Given the description of an element on the screen output the (x, y) to click on. 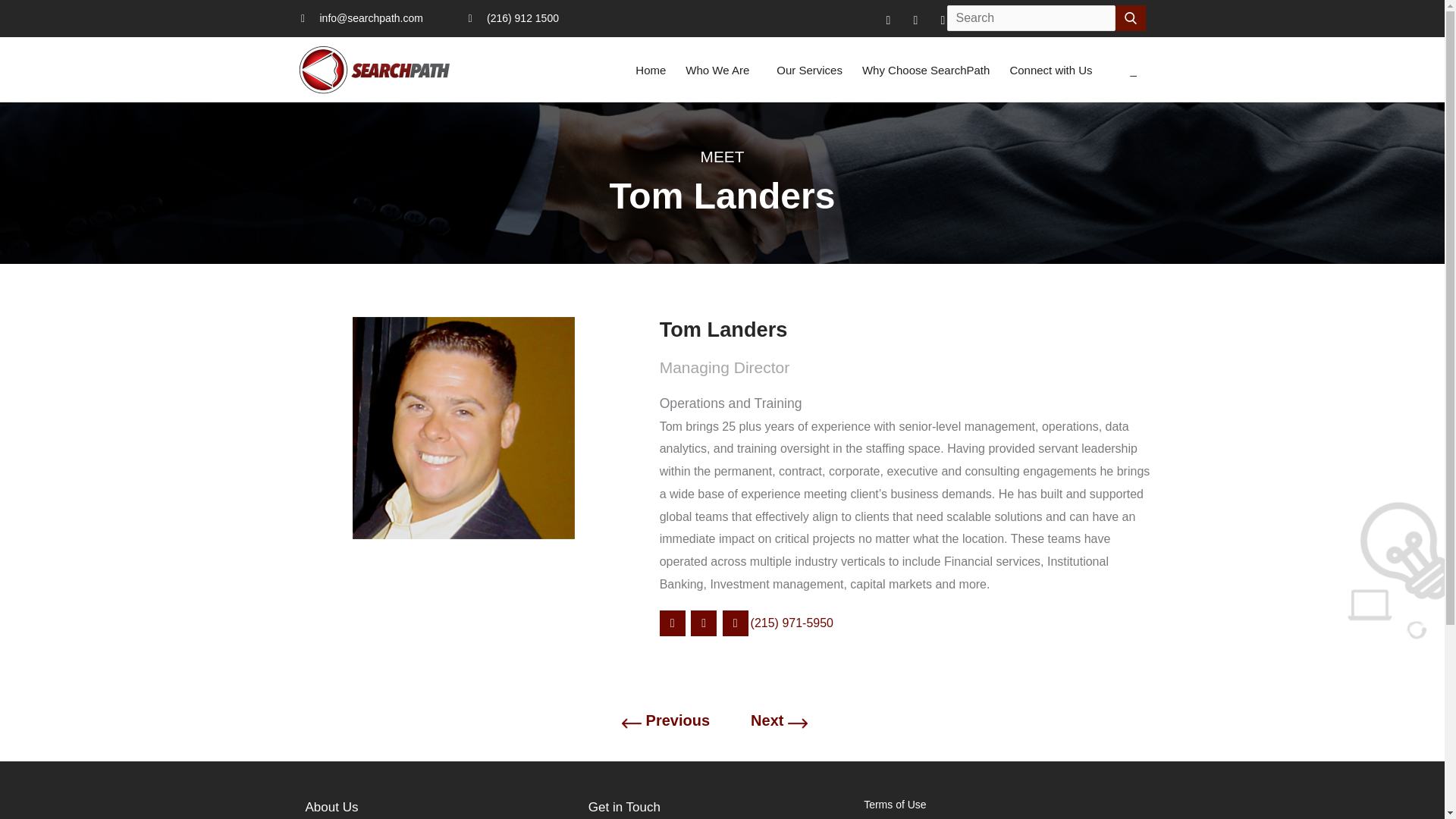
Search (1130, 17)
Next (767, 720)
Previous (677, 720)
Who We Are (721, 69)
Our Services (809, 69)
Tom Landers (906, 329)
Connect with Us (1050, 69)
Home (650, 69)
Why Choose SearchPath (924, 69)
Search (1130, 17)
